Given the description of an element on the screen output the (x, y) to click on. 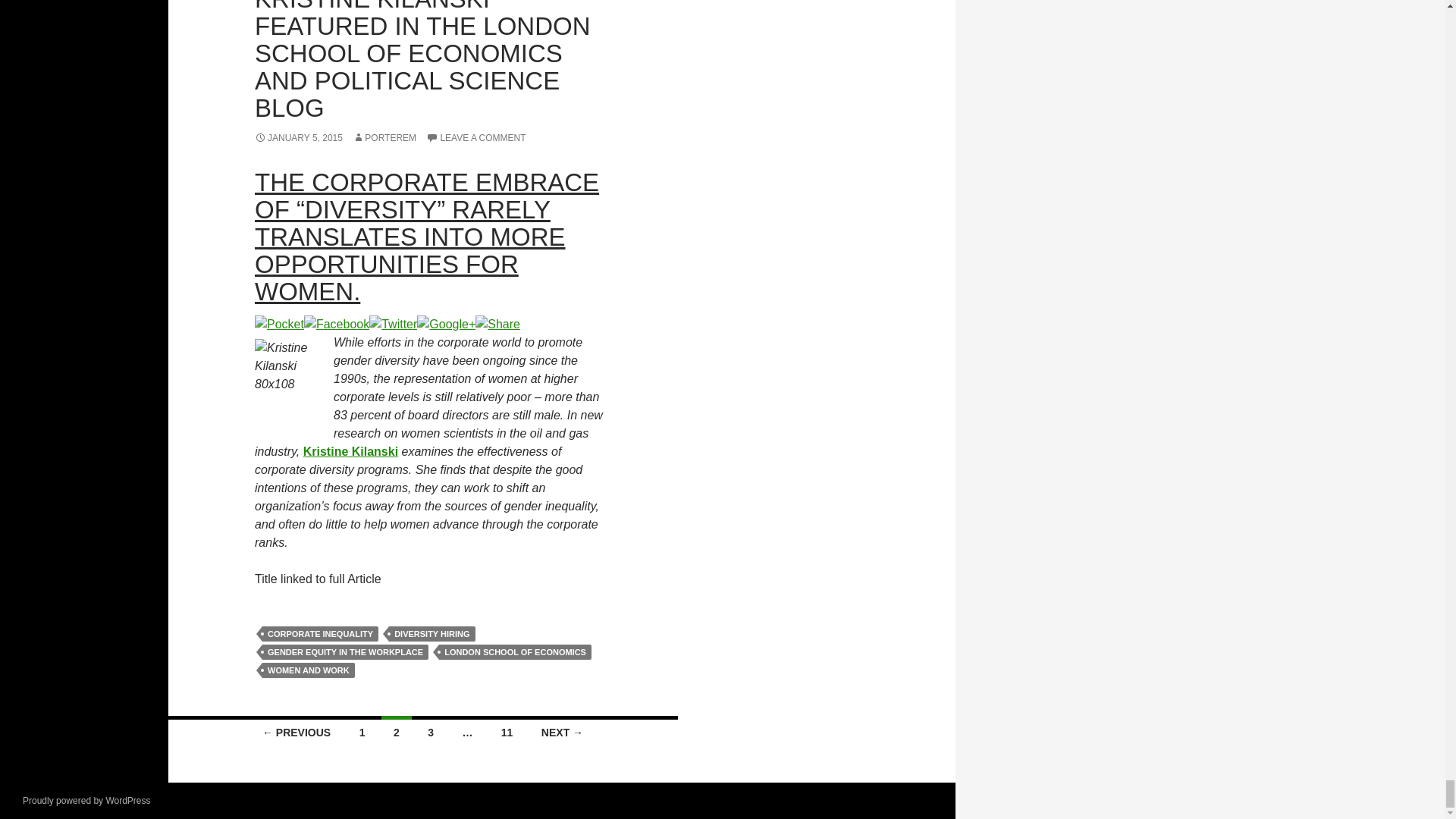
Pocket (279, 323)
Twitter (392, 323)
Facebook (336, 323)
